Given the description of an element on the screen output the (x, y) to click on. 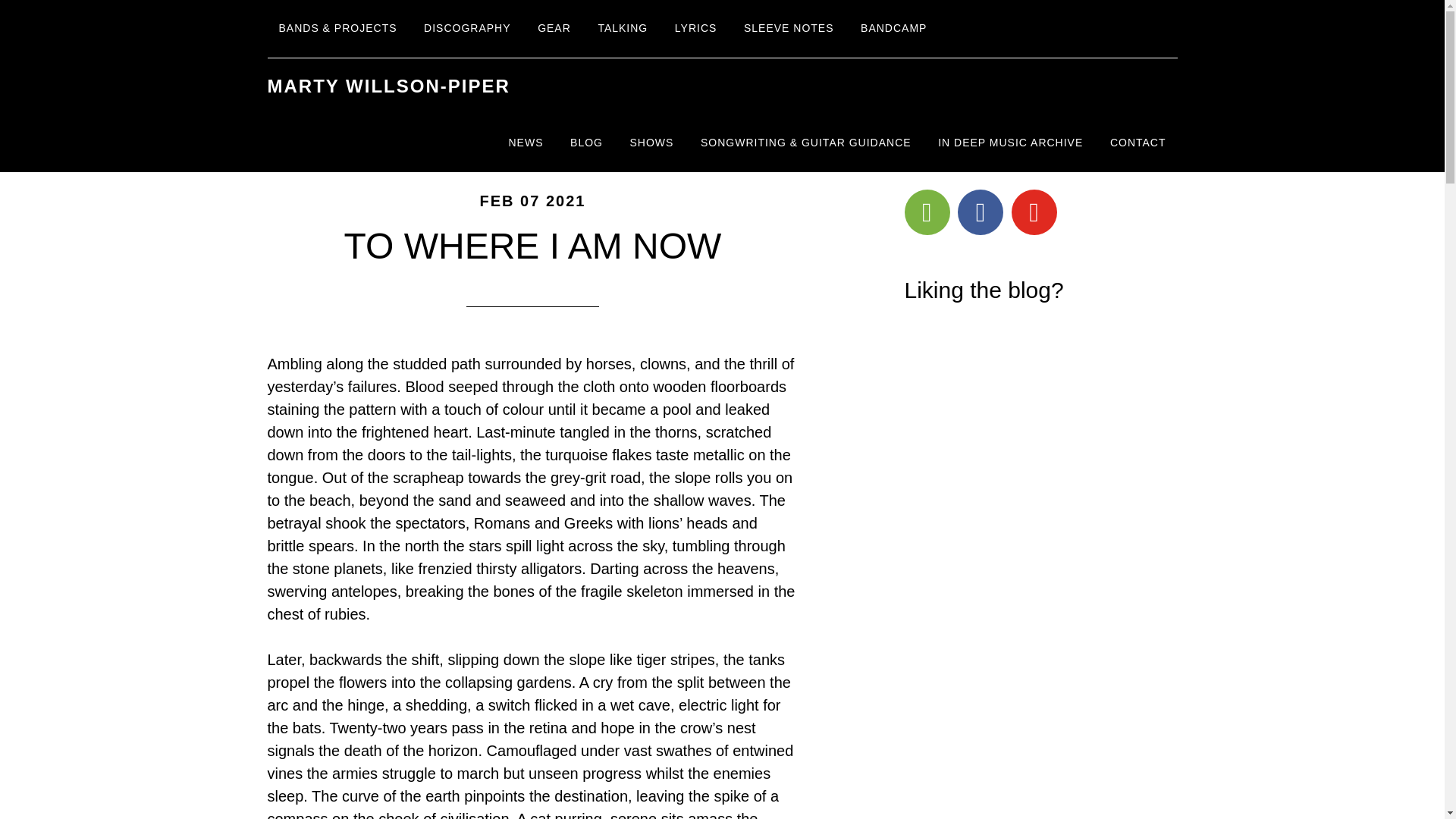
Facebook (980, 212)
Spotify (926, 212)
GEAR (553, 28)
LYRICS (696, 28)
DISCOGRAPHY (466, 28)
TALKING (622, 28)
YouTube (1034, 212)
SLEEVE NOTES (788, 28)
